Given the description of an element on the screen output the (x, y) to click on. 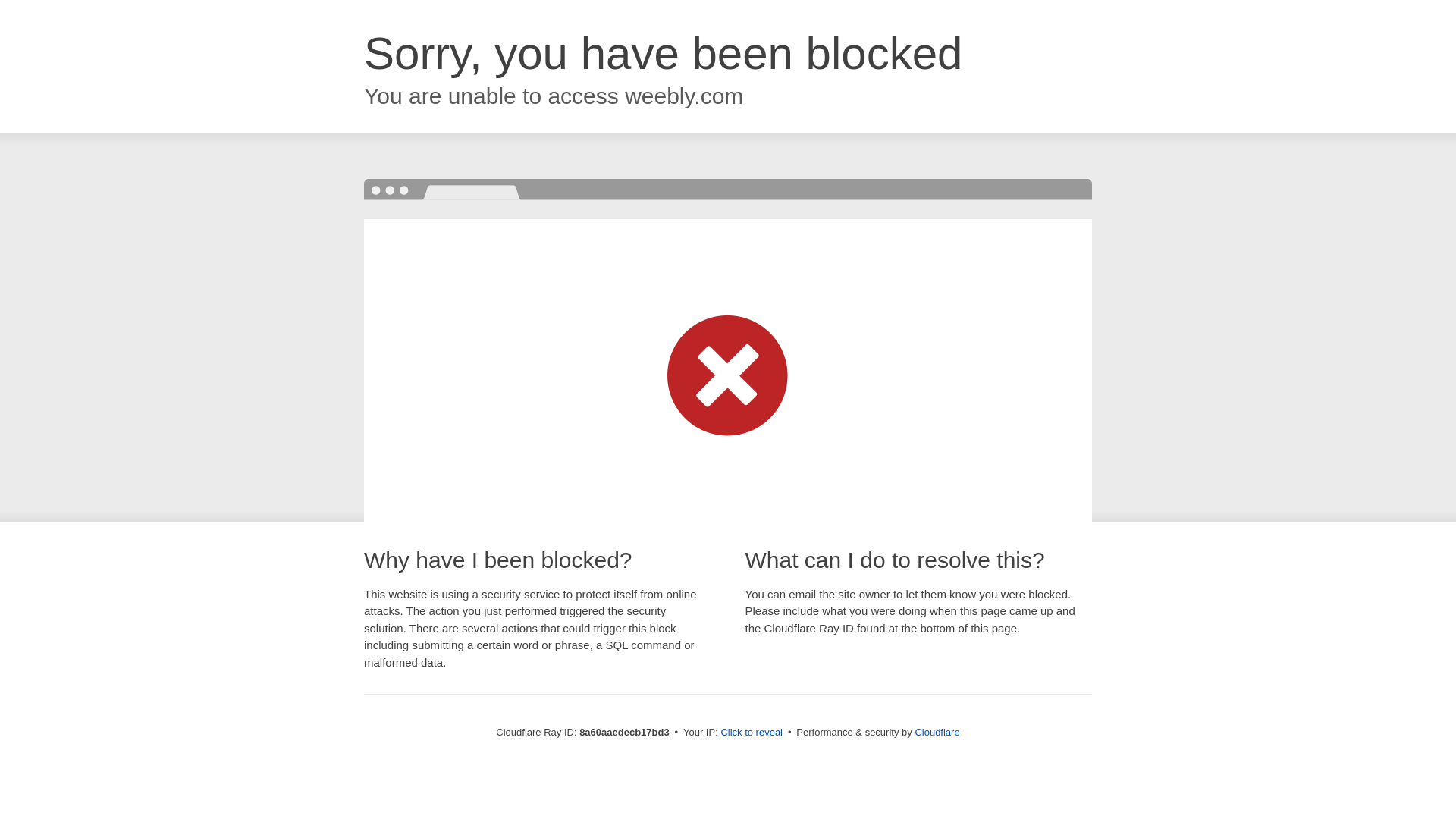
Cloudflare (936, 731)
Click to reveal (751, 732)
